Given the description of an element on the screen output the (x, y) to click on. 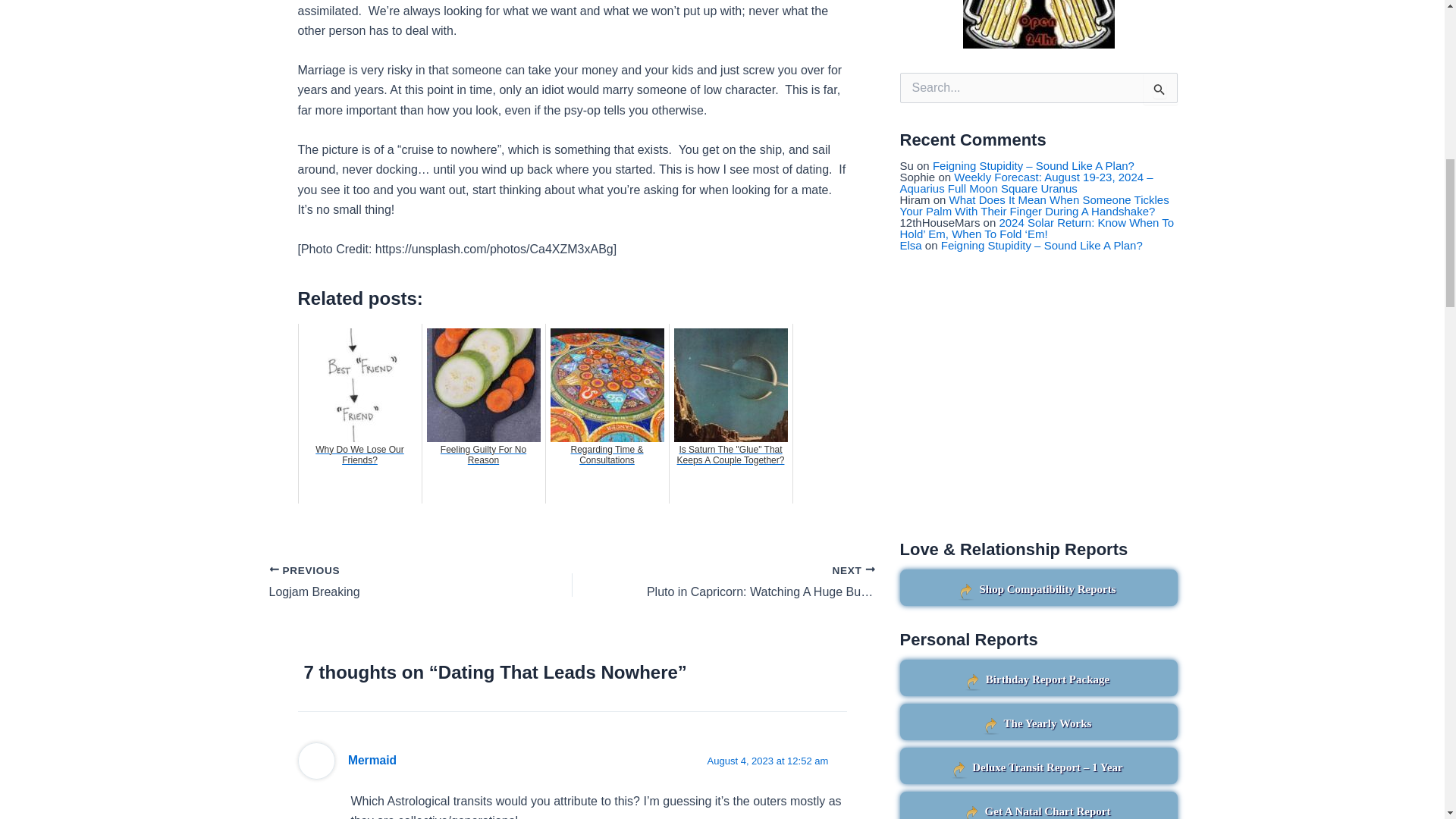
Search (1159, 88)
Search (1159, 88)
Logjam Breaking (389, 582)
Pluto in Capricorn: Watching A Huge Business Implode (753, 582)
